Given the description of an element on the screen output the (x, y) to click on. 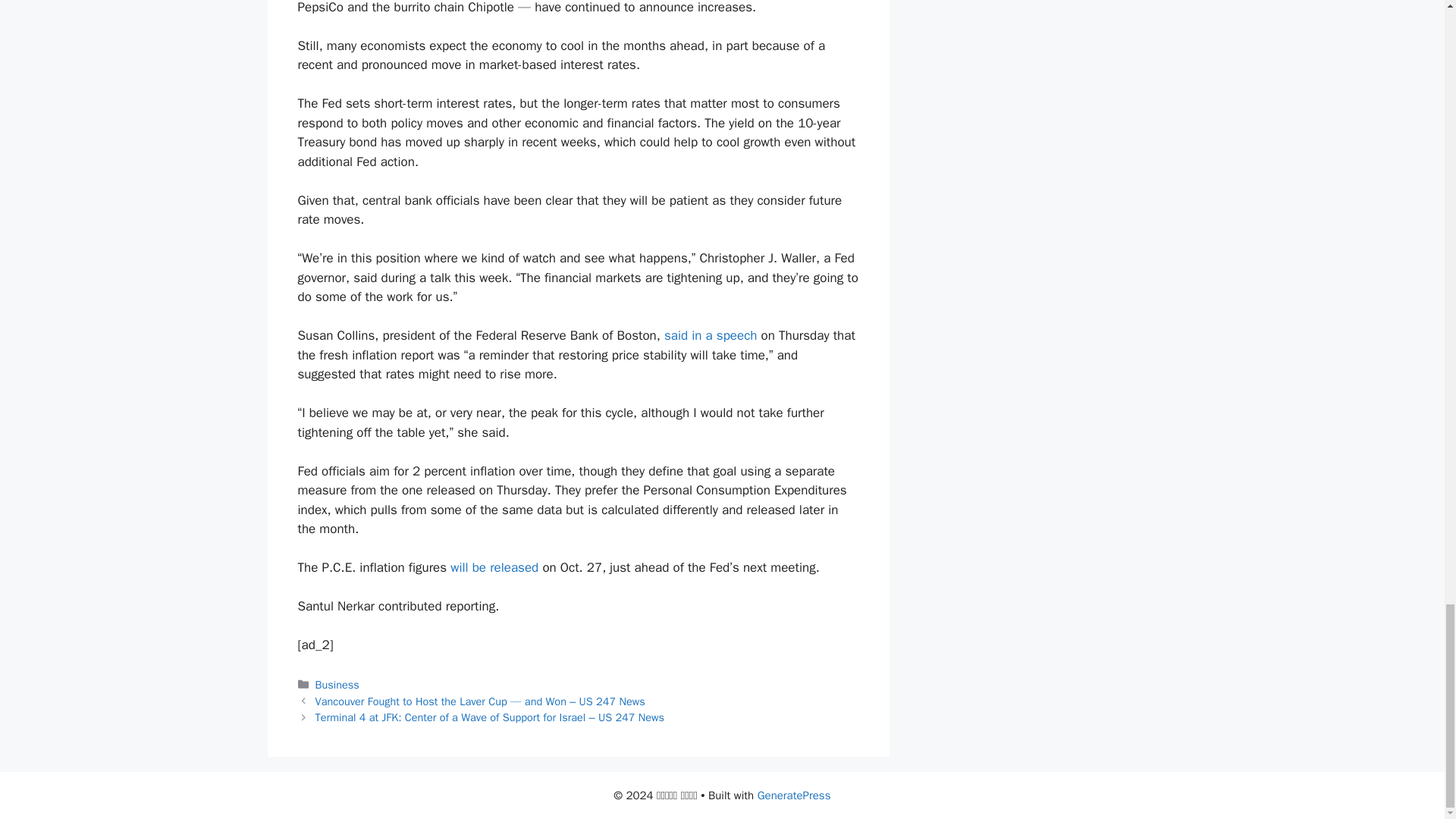
Business (337, 684)
will be released (493, 567)
GeneratePress (794, 795)
said in a speech (710, 335)
